Given the description of an element on the screen output the (x, y) to click on. 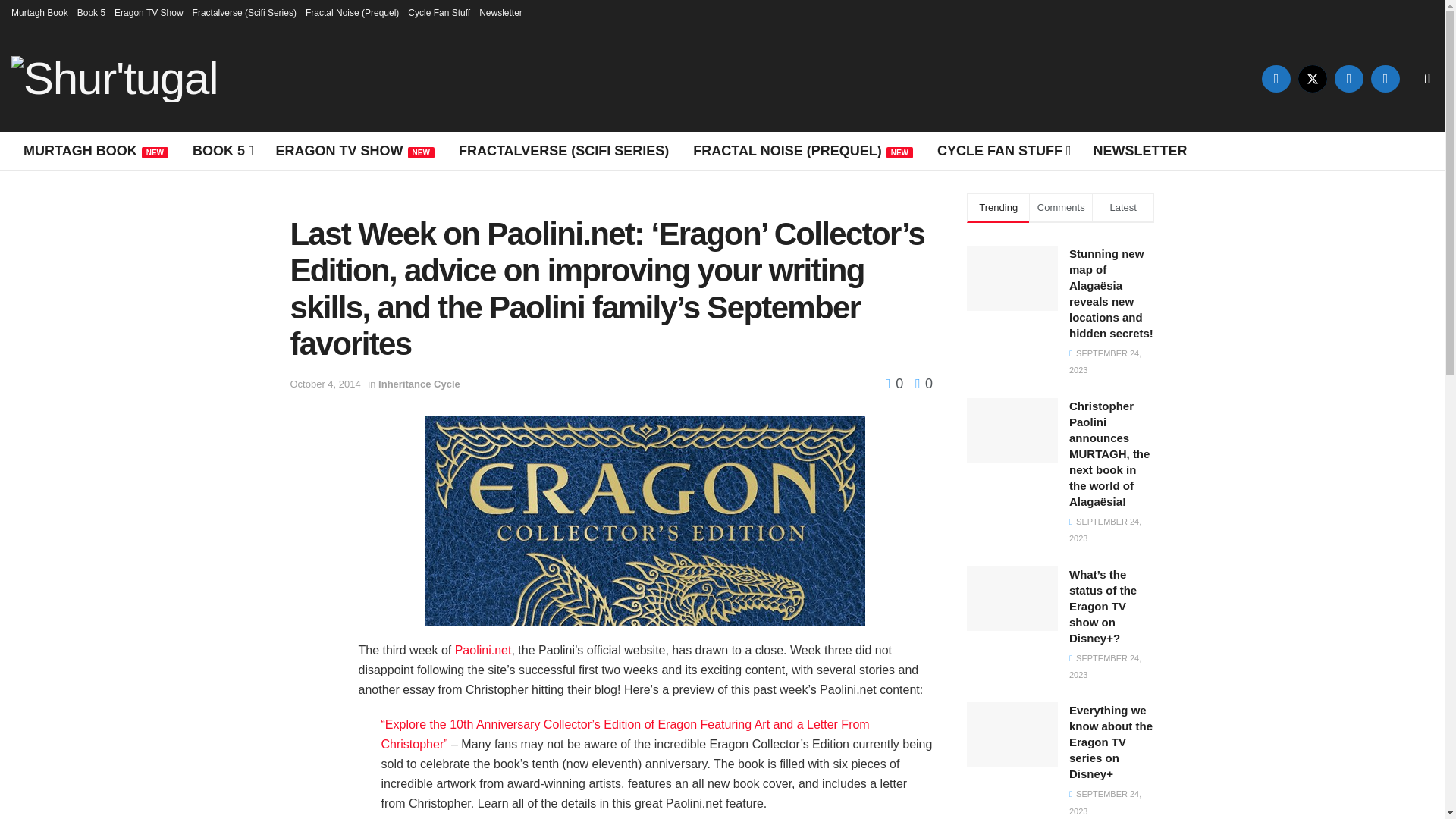
ERAGON TV SHOWNEW (354, 150)
MURTAGH BOOKNEW (95, 150)
Book 5 (90, 12)
Murtagh Book (39, 12)
BOOK 5 (221, 150)
Eragon TV Show (149, 12)
Newsletter (500, 12)
Cycle Fan Stuff (438, 12)
CYCLE FAN STUFF (1002, 150)
